Given the description of an element on the screen output the (x, y) to click on. 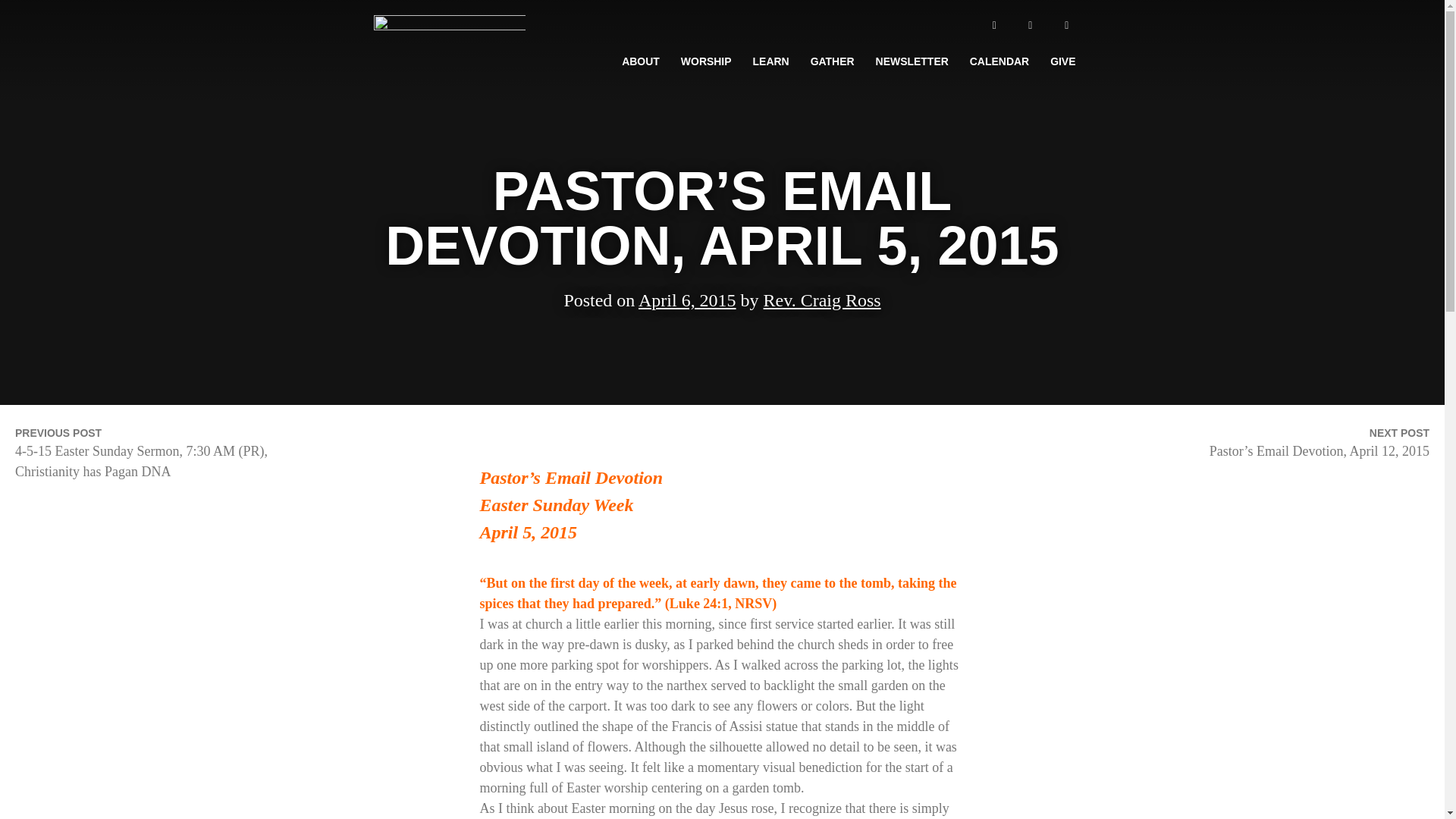
Search this Site (1066, 25)
ABOUT (640, 61)
CALENDAR (999, 61)
Rev. Craig Ross (821, 306)
GATHER (831, 61)
St. Peter's Lutheran Church (447, 114)
April 6, 2015 (687, 307)
Get in Touch (1029, 25)
GIVE (1062, 61)
Get Directions (993, 25)
